Given the description of an element on the screen output the (x, y) to click on. 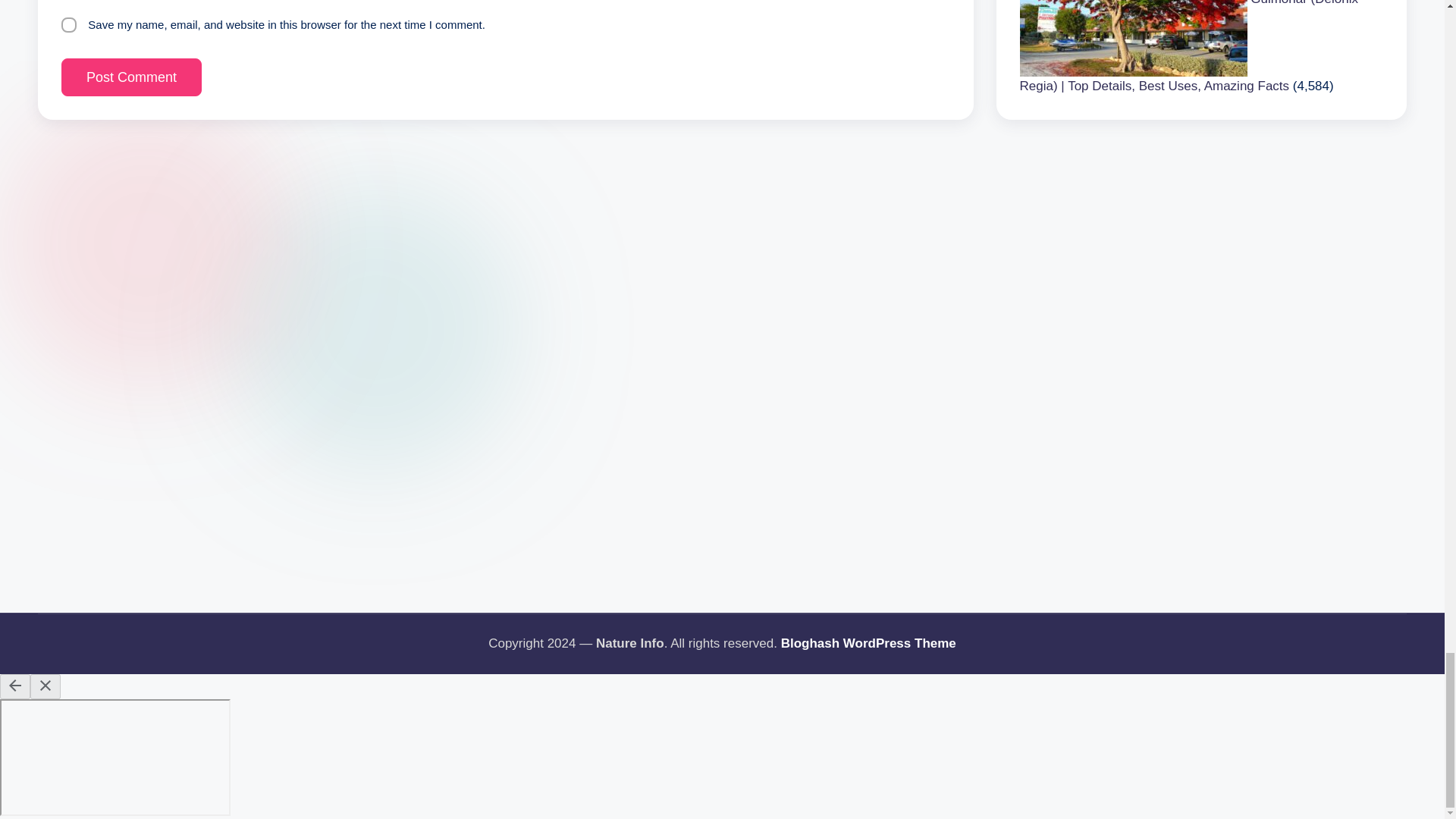
Post Comment (131, 77)
yes (69, 24)
